Given the description of an element on the screen output the (x, y) to click on. 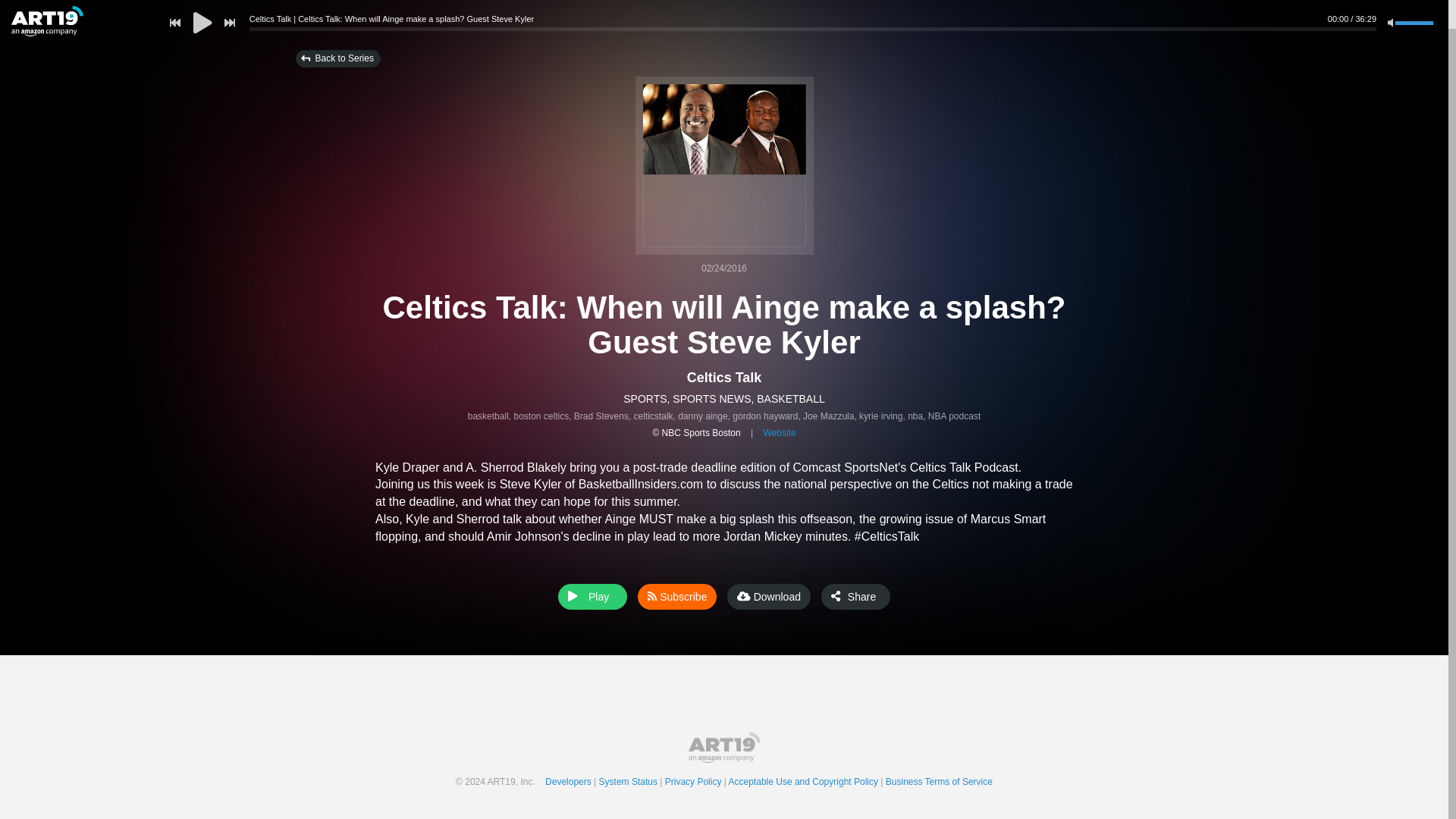
Download (768, 596)
Share (855, 596)
Subscribe (676, 596)
Back to Series (337, 58)
Celtics Talk (724, 377)
Play (592, 596)
ART19 (724, 747)
Share on Facebook (869, 596)
Website (778, 432)
Developers (571, 781)
